Given the description of an element on the screen output the (x, y) to click on. 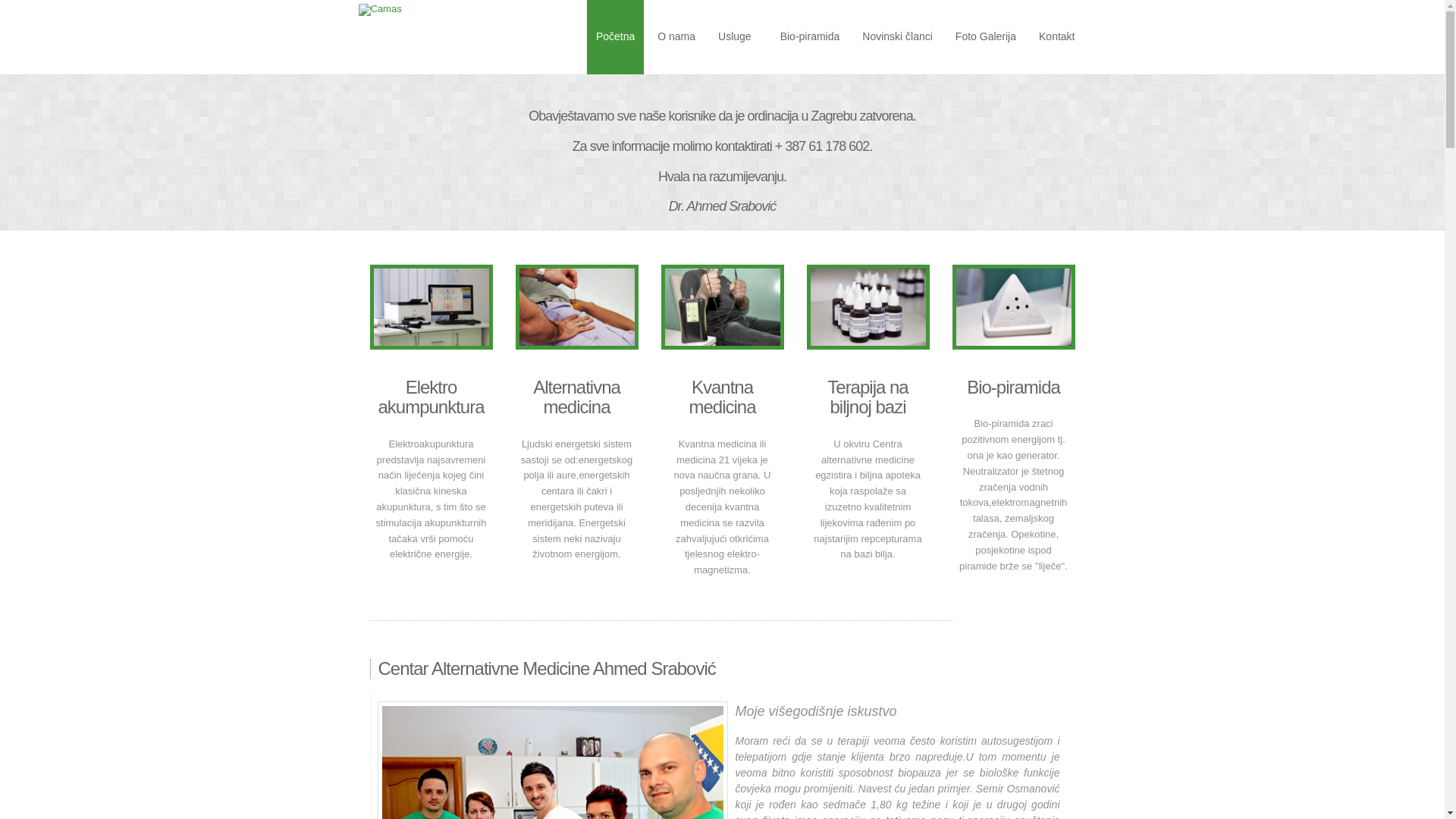
Camas Element type: hover (379, 9)
Usluge Element type: text (737, 37)
Kontakt Element type: text (1056, 37)
O nama Element type: text (676, 37)
Foto Galerija Element type: text (985, 37)
Bio-piramida Element type: text (810, 37)
